Given the description of an element on the screen output the (x, y) to click on. 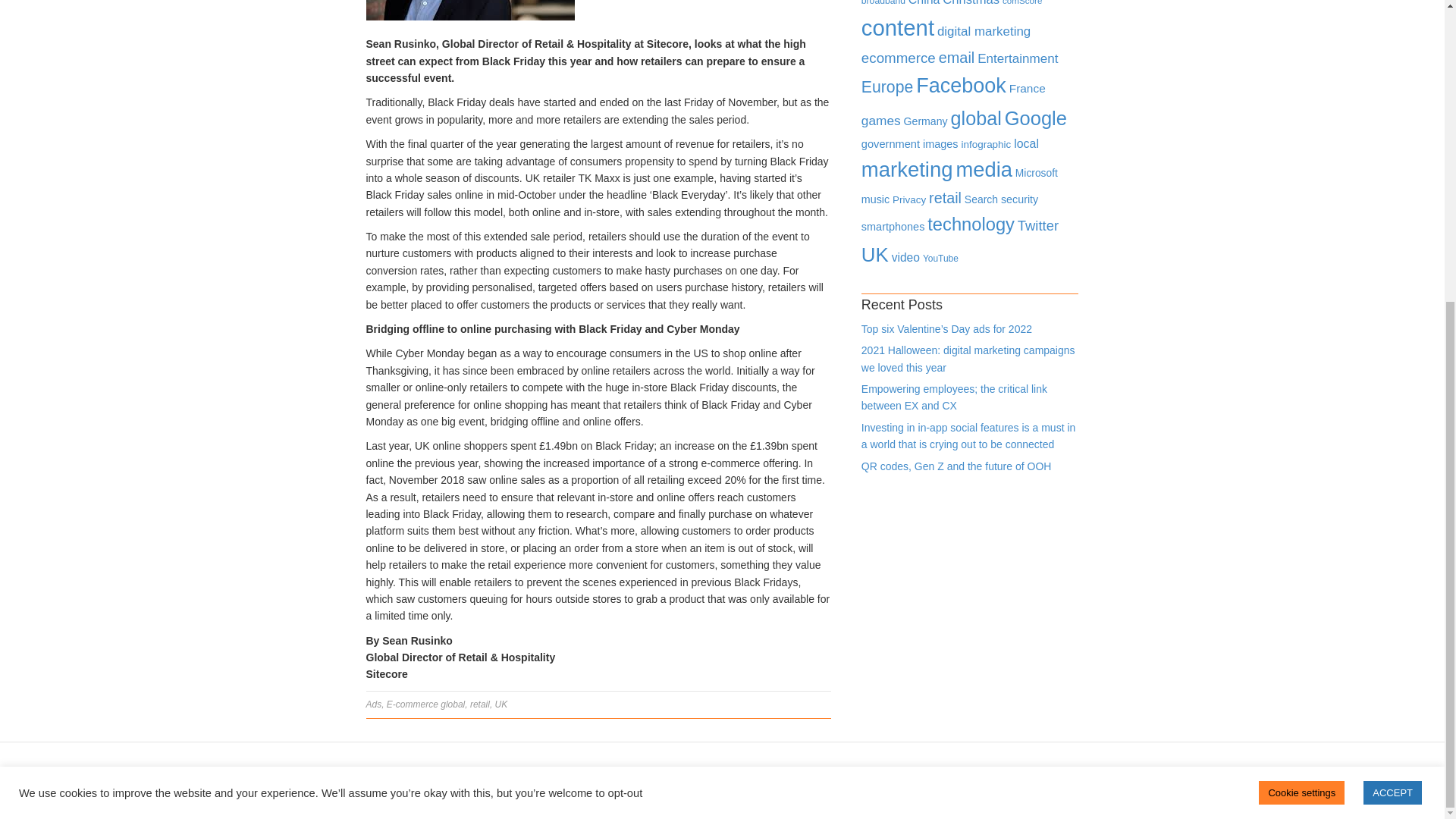
global (452, 704)
E-commerce (412, 704)
broadband (883, 2)
Ads (373, 704)
UK (501, 704)
retail (479, 704)
China (924, 2)
